Given the description of an element on the screen output the (x, y) to click on. 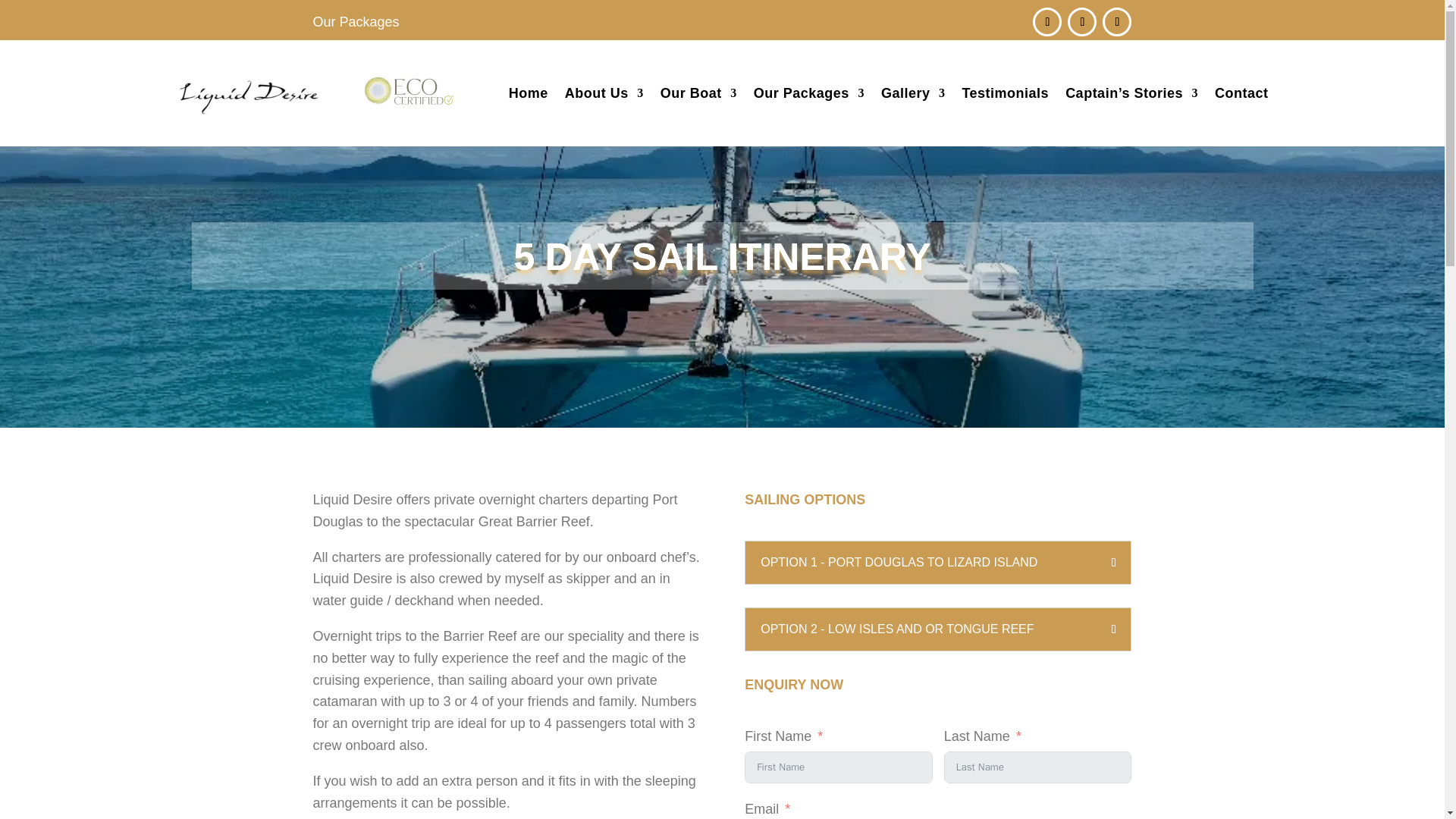
About Us (603, 93)
Follow on Facebook (1046, 21)
Our Boat (698, 93)
Our Packages (355, 21)
Follow on Instagram (1081, 21)
Our Packages (809, 93)
Testimonials (1004, 93)
Follow on Youtube (1116, 21)
